Given the description of an element on the screen output the (x, y) to click on. 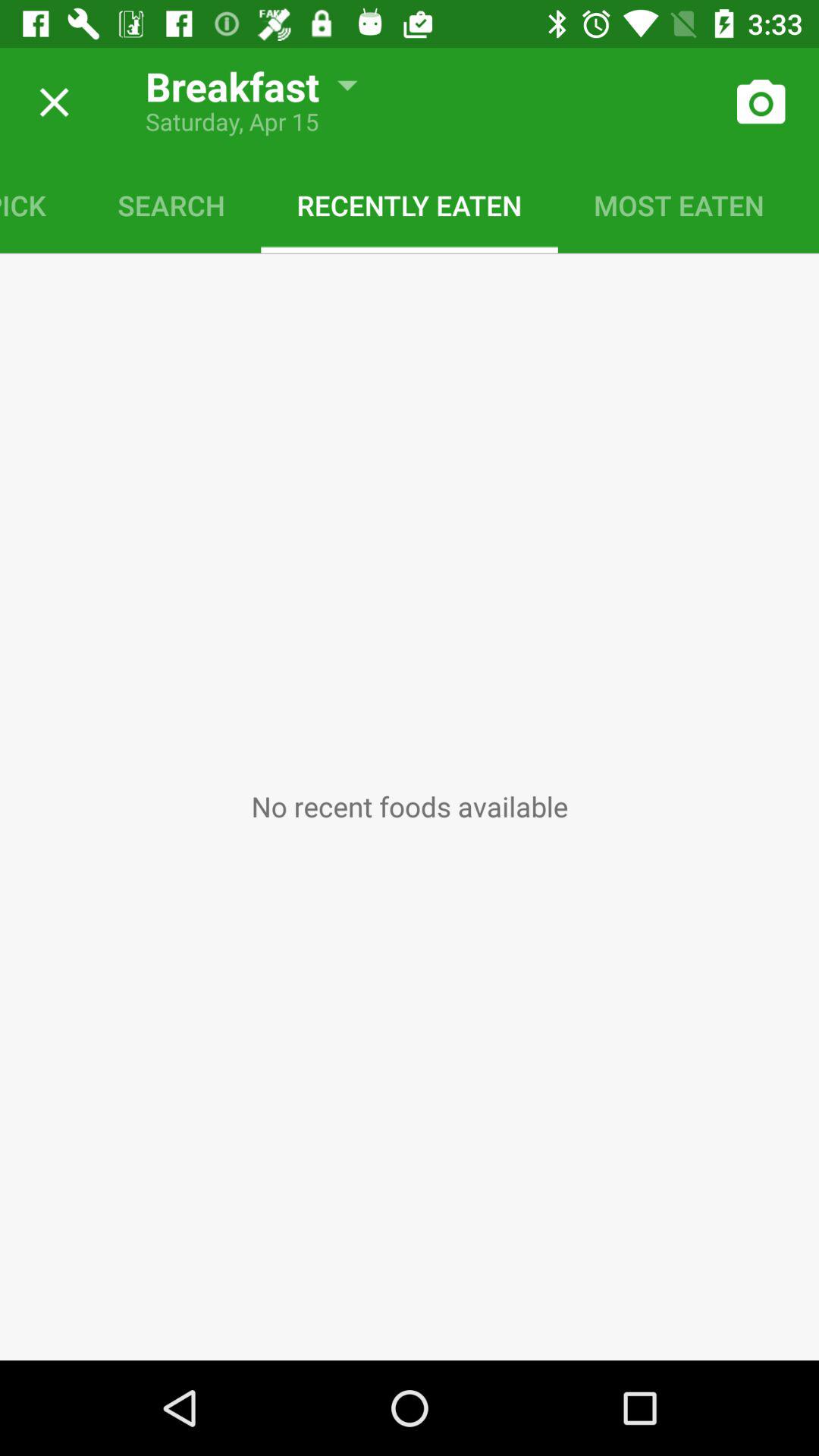
flip to the search icon (171, 205)
